Given the description of an element on the screen output the (x, y) to click on. 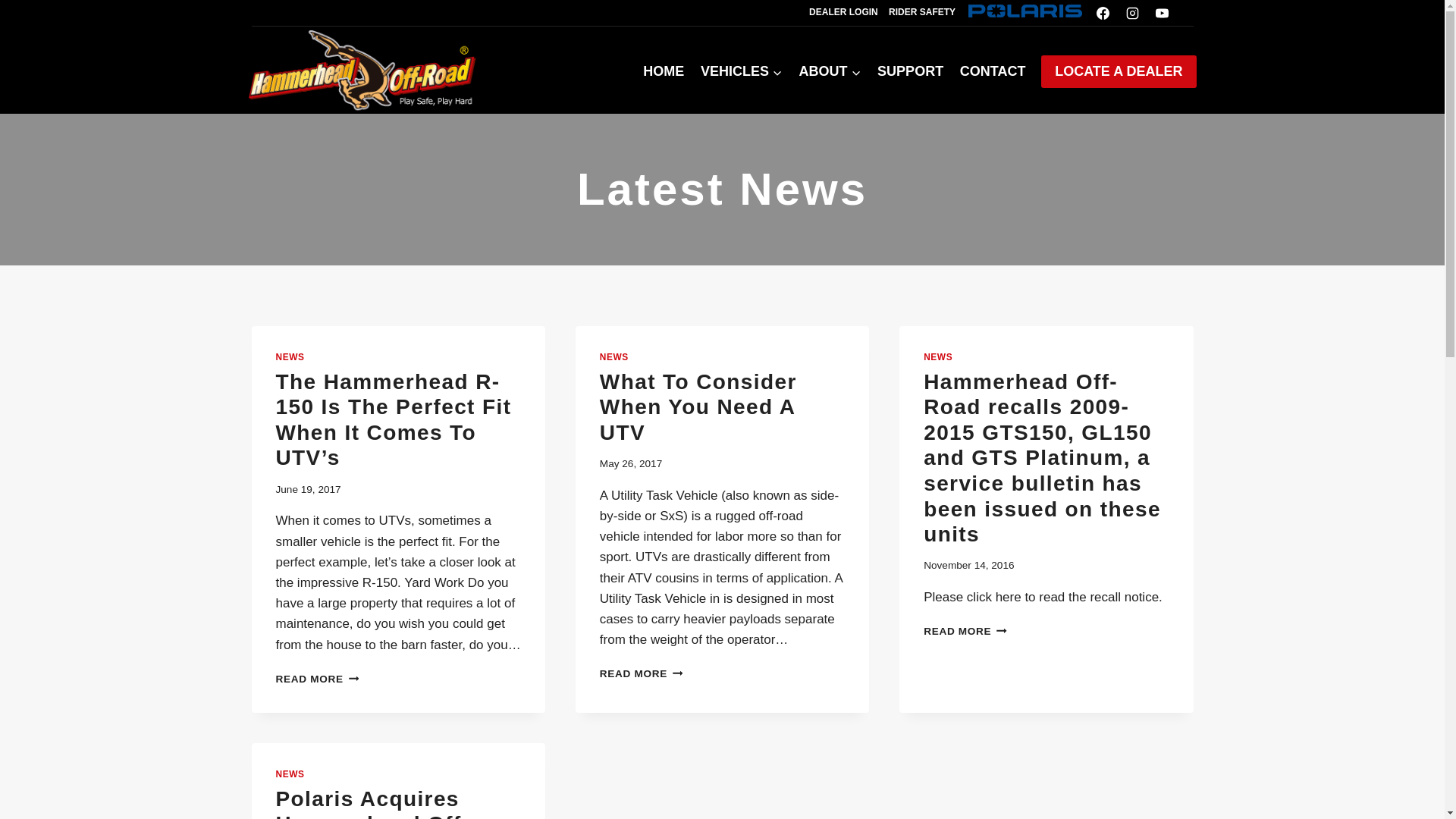
NEWS (290, 774)
NEWS (290, 357)
RIDER SAFETY (921, 12)
ABOUT (829, 71)
LOCATE A DEALER (1118, 71)
SUPPORT (910, 71)
HOME (663, 71)
NEWS (937, 357)
